Given the description of an element on the screen output the (x, y) to click on. 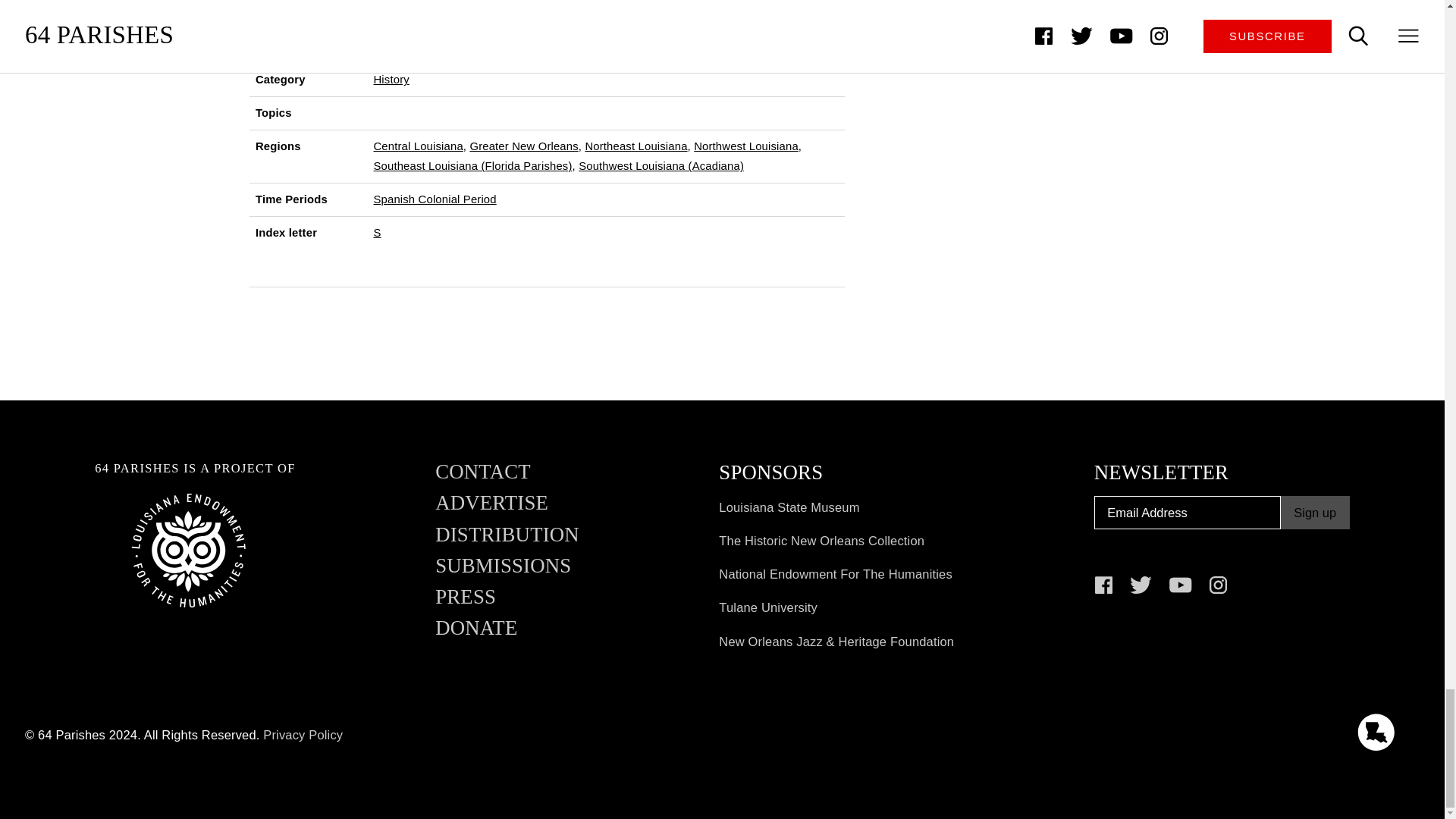
Sign up (1315, 512)
